Given the description of an element on the screen output the (x, y) to click on. 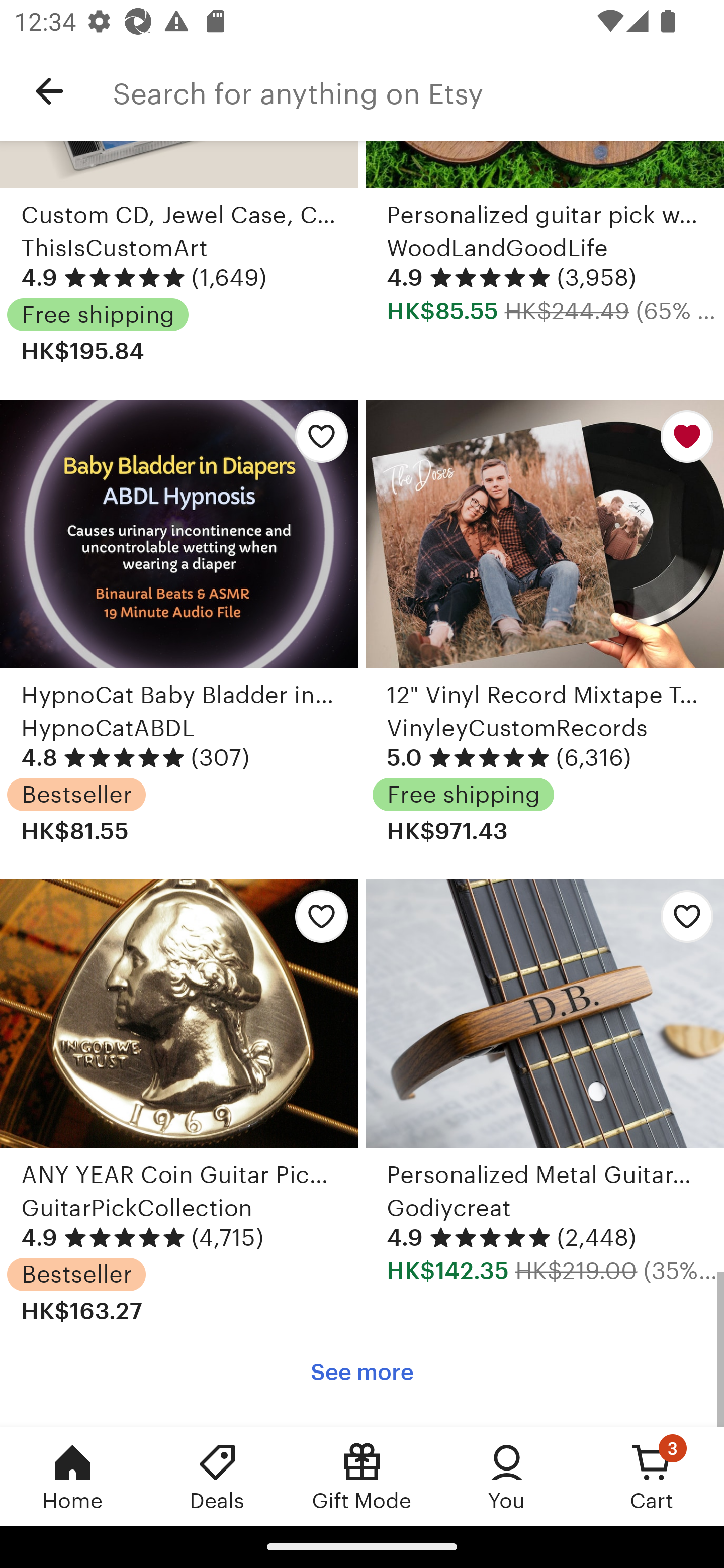
Navigate up (49, 91)
Search for anything on Etsy (418, 91)
See more See more  (361, 1371)
Deals (216, 1475)
Gift Mode (361, 1475)
You (506, 1475)
Cart, 3 new notifications Cart (651, 1475)
